Given the description of an element on the screen output the (x, y) to click on. 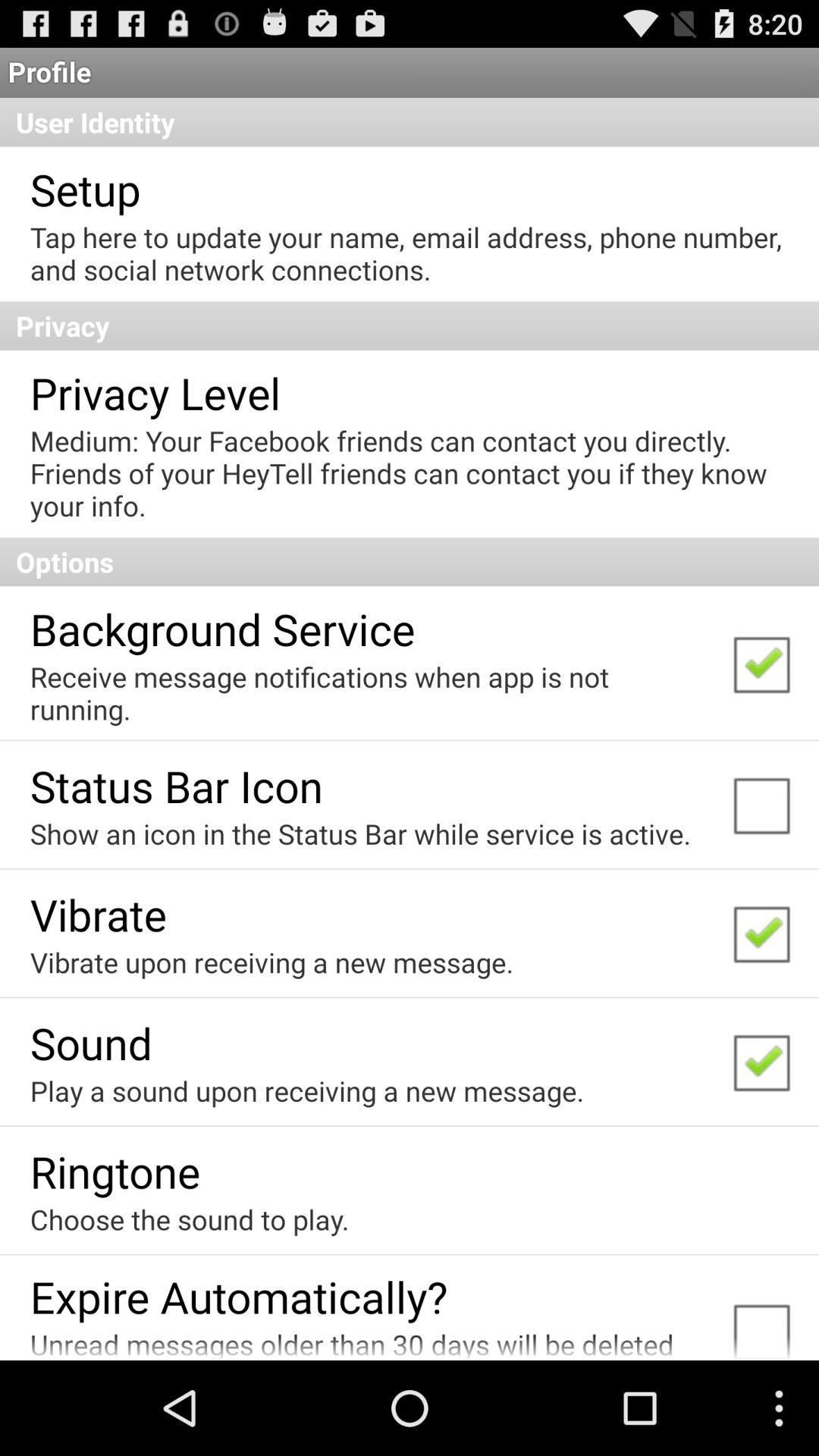
turn on the options item (409, 561)
